Given the description of an element on the screen output the (x, y) to click on. 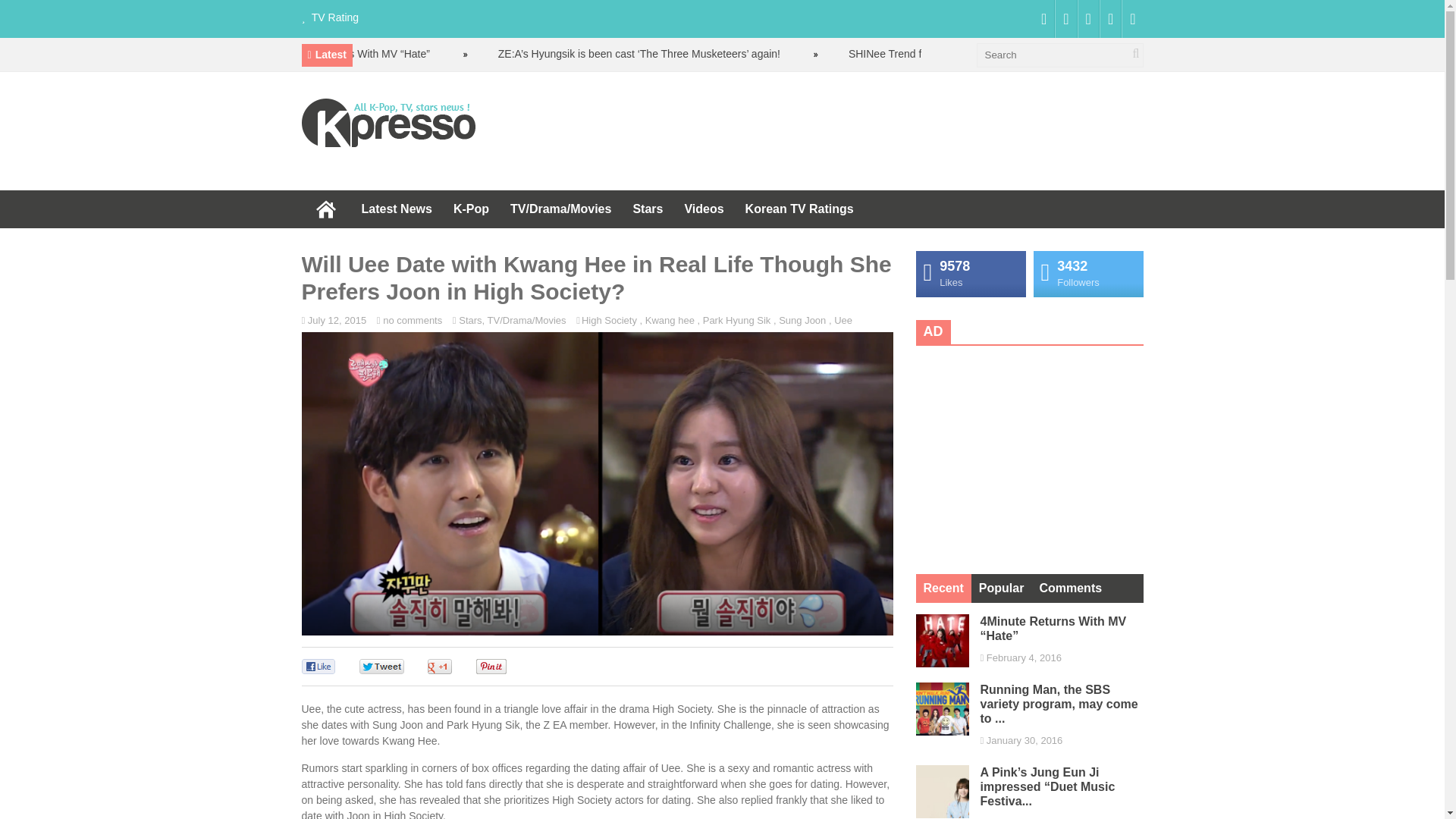
Uee (842, 319)
TV Rating (334, 17)
K-Pop (470, 209)
Be the first one to tweet this article! (398, 665)
Stars (469, 319)
Park Hyung Sik (737, 319)
High Society (608, 319)
Stars (646, 209)
Home (325, 209)
Korean TV Ratings (799, 209)
